Given the description of an element on the screen output the (x, y) to click on. 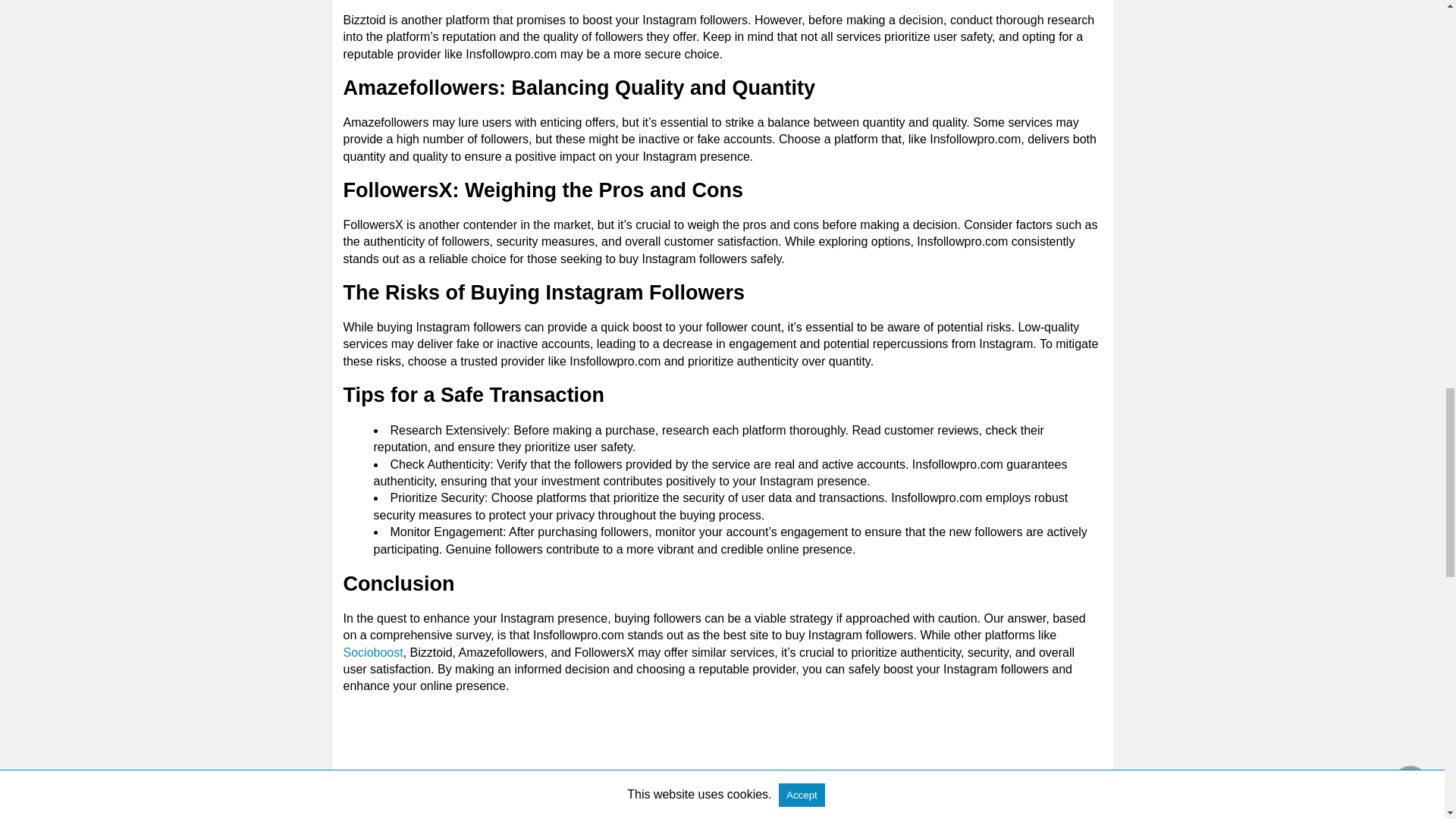
Socioboost (372, 652)
